Given the description of an element on the screen output the (x, y) to click on. 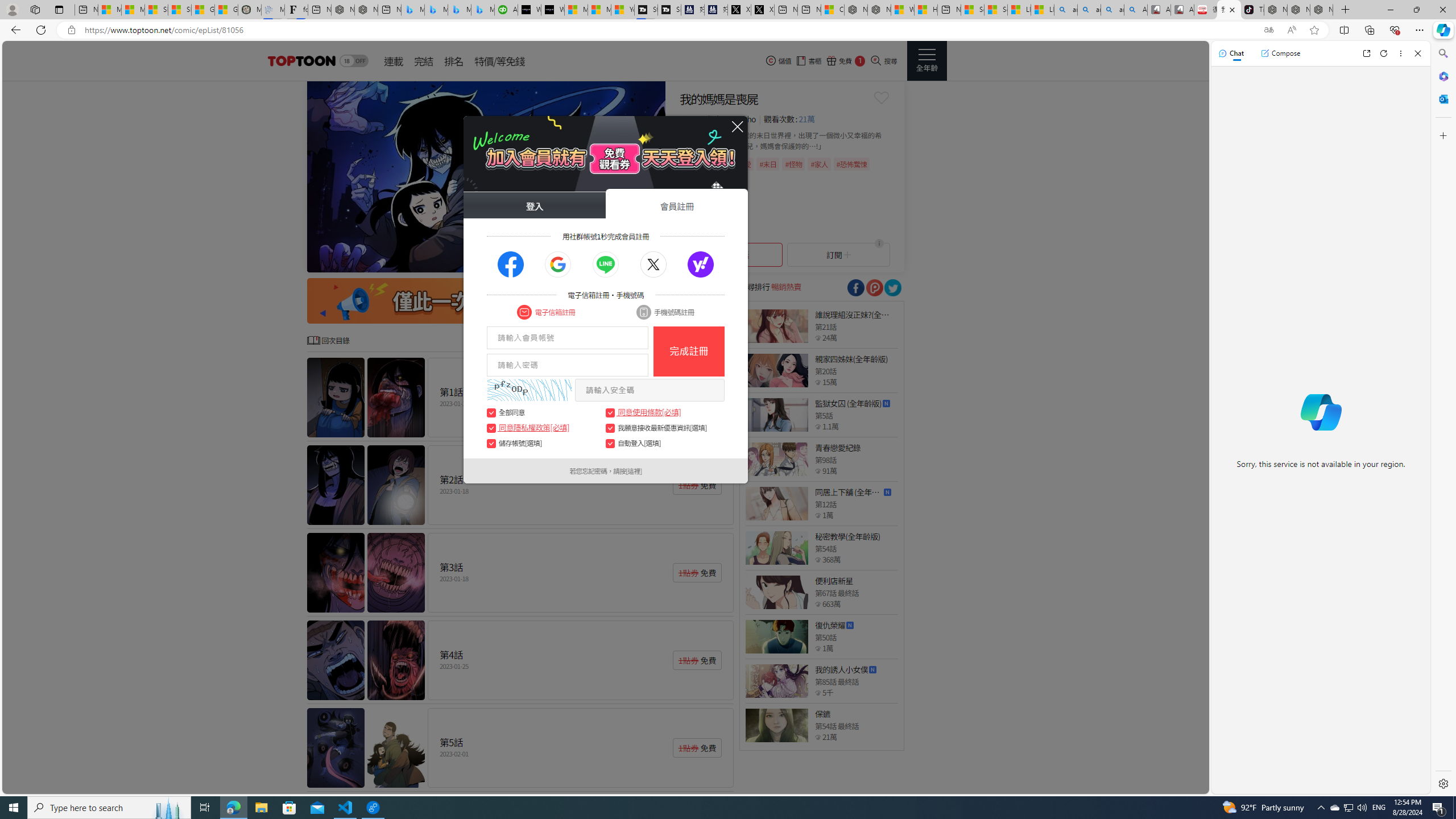
Class: thumb_img (776, 725)
